Given the description of an element on the screen output the (x, y) to click on. 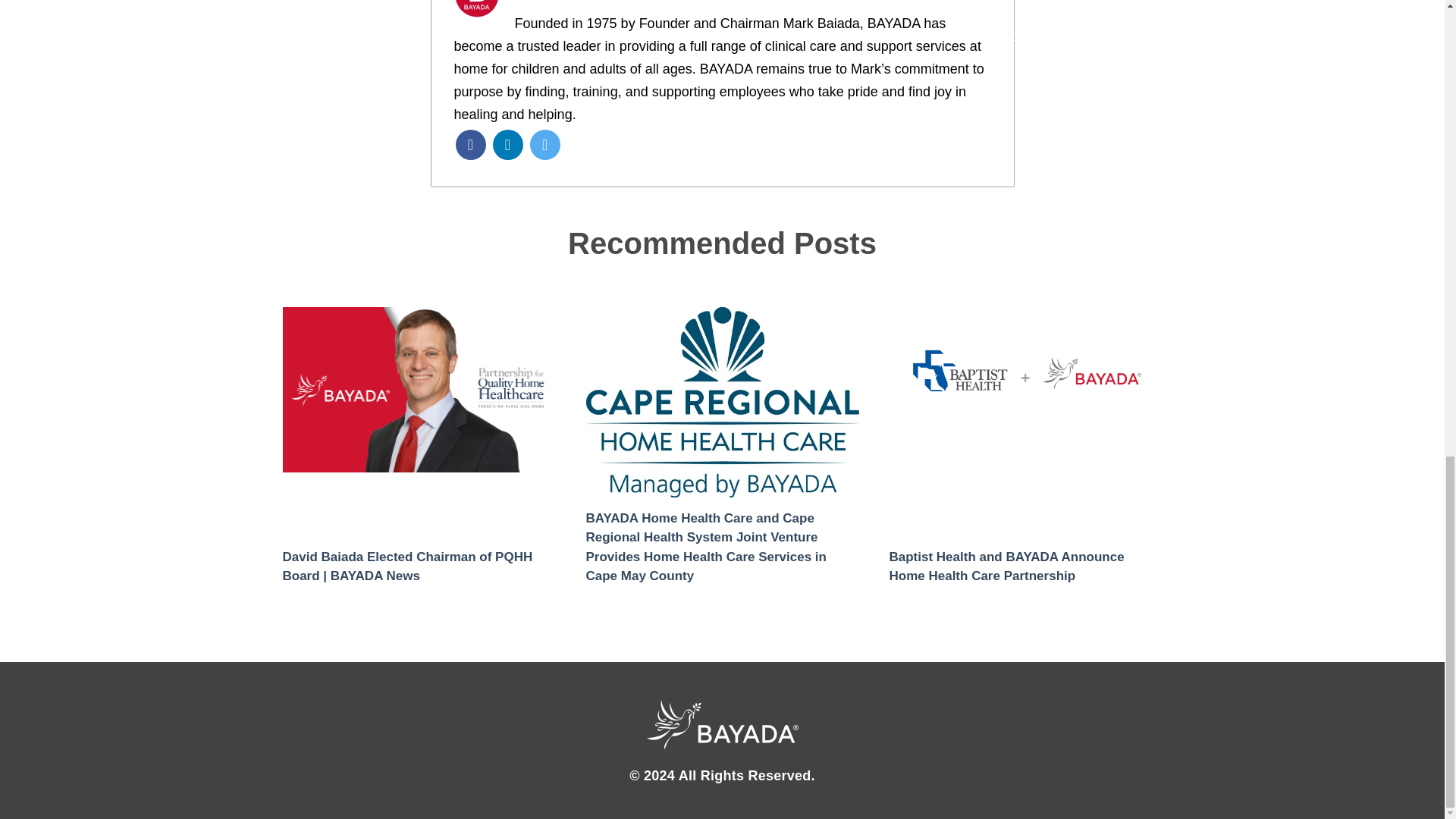
BAYADA Communications Office (619, 13)
